Given the description of an element on the screen output the (x, y) to click on. 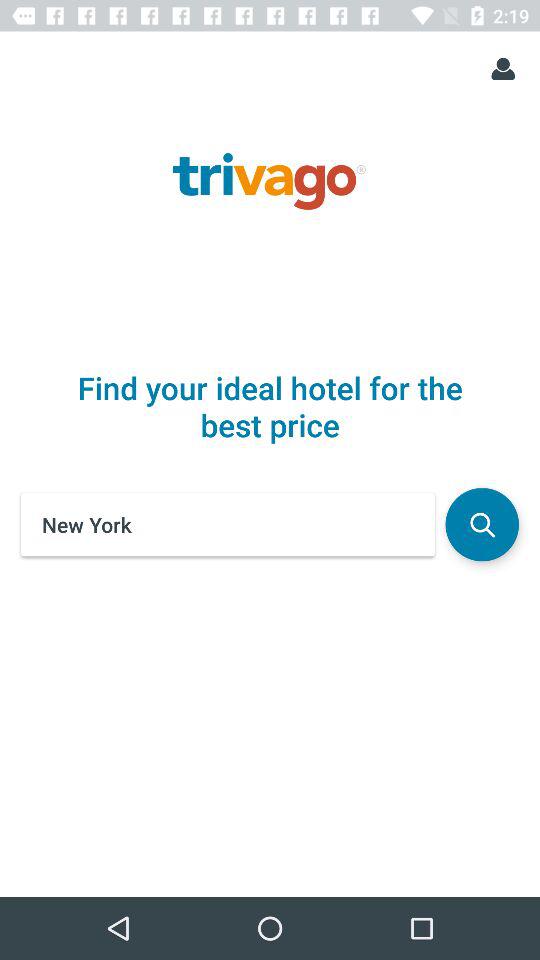
open the icon below find your ideal icon (482, 524)
